Given the description of an element on the screen output the (x, y) to click on. 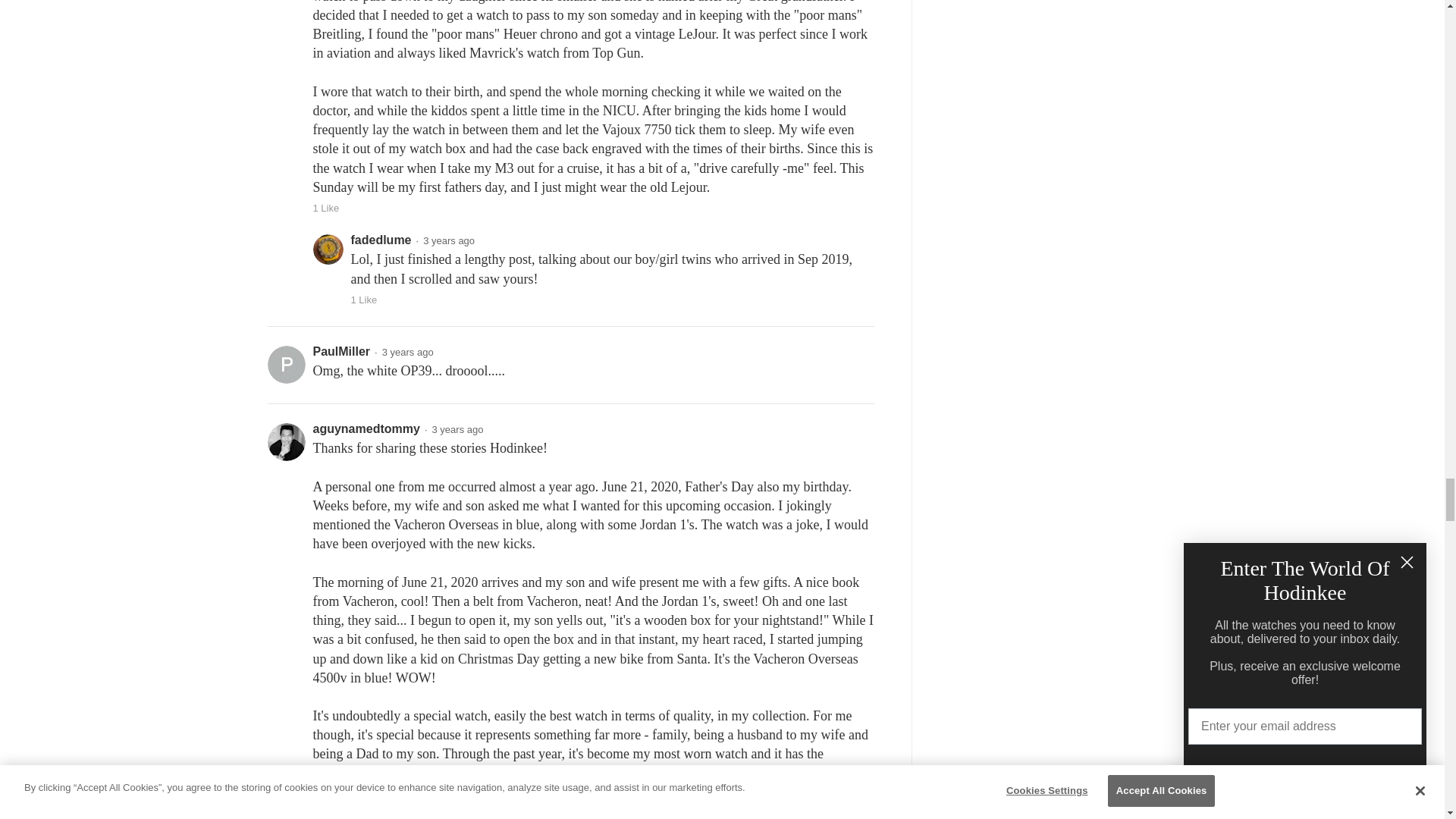
2021-06-17 16:13 (407, 351)
2021-06-17 15:02 (457, 429)
2021-06-17 19:12 (448, 240)
